Given the description of an element on the screen output the (x, y) to click on. 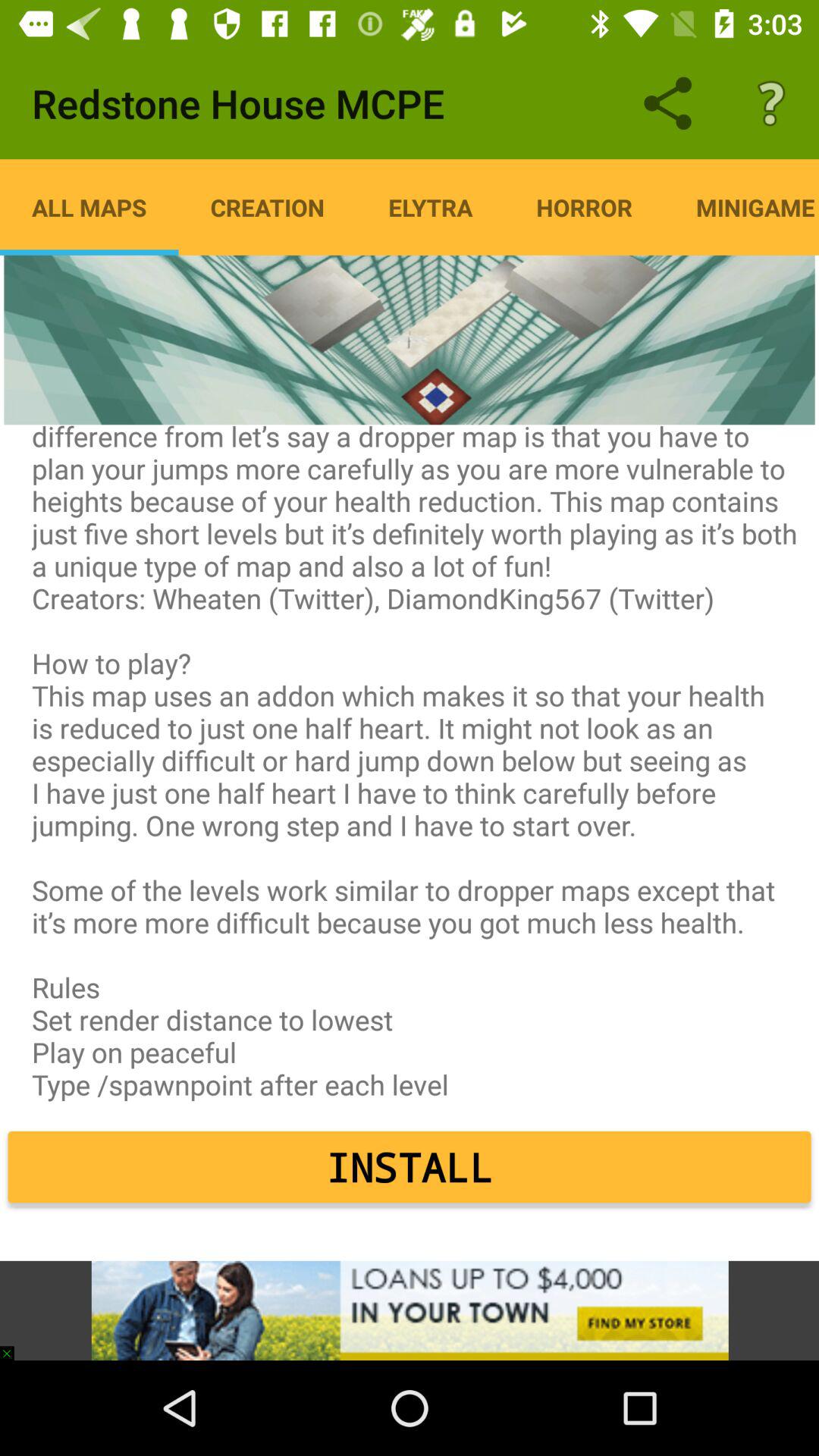
turn off the icon next to the creation item (430, 207)
